Given the description of an element on the screen output the (x, y) to click on. 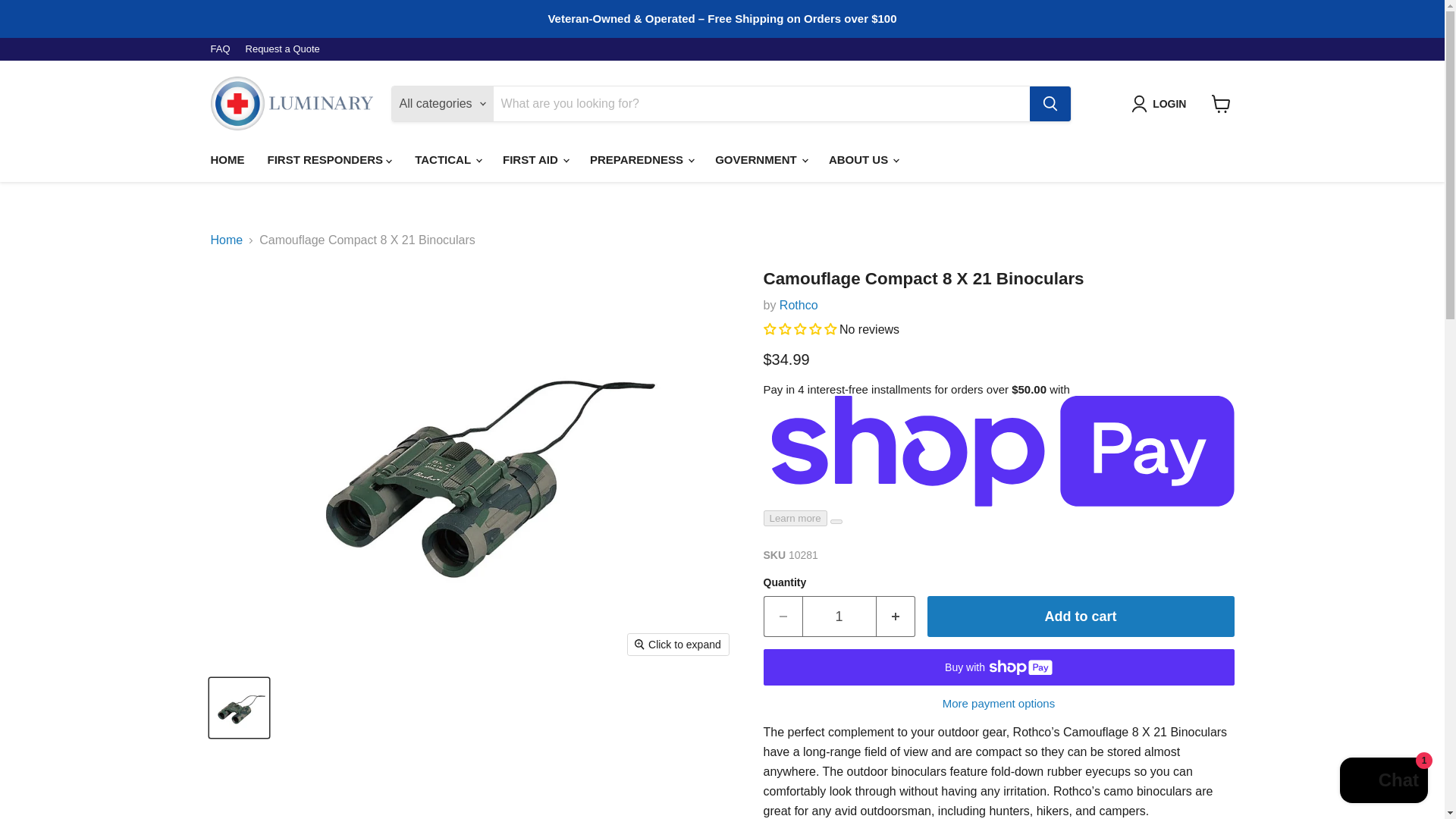
FAQ (220, 49)
View cart (1221, 103)
LOGIN (1161, 104)
Request a Quote (283, 49)
HOME (227, 160)
1 (839, 617)
Rothco (798, 305)
Shopify online store chat (1383, 781)
